Given the description of an element on the screen output the (x, y) to click on. 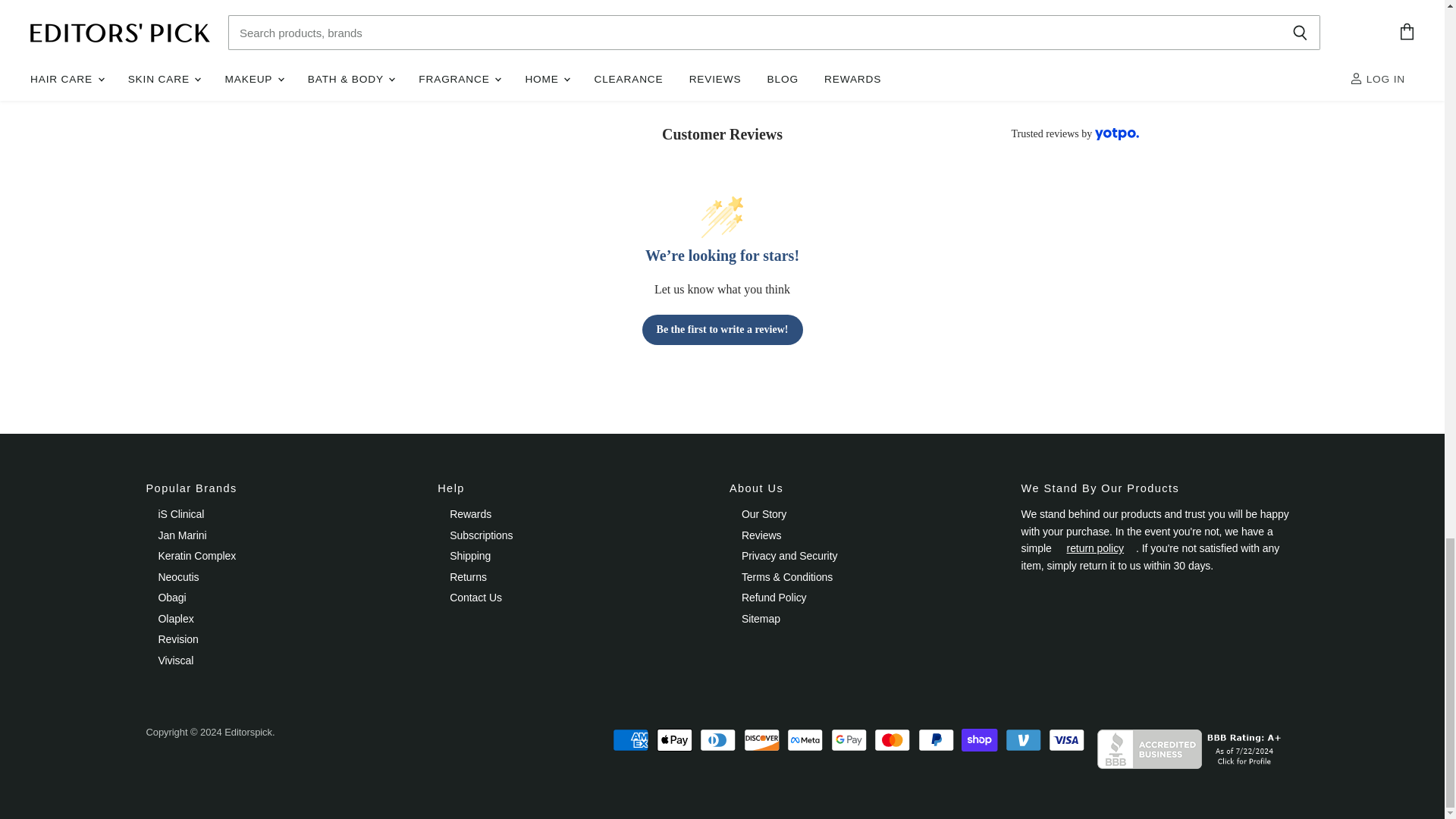
Returns (1095, 547)
